Given the description of an element on the screen output the (x, y) to click on. 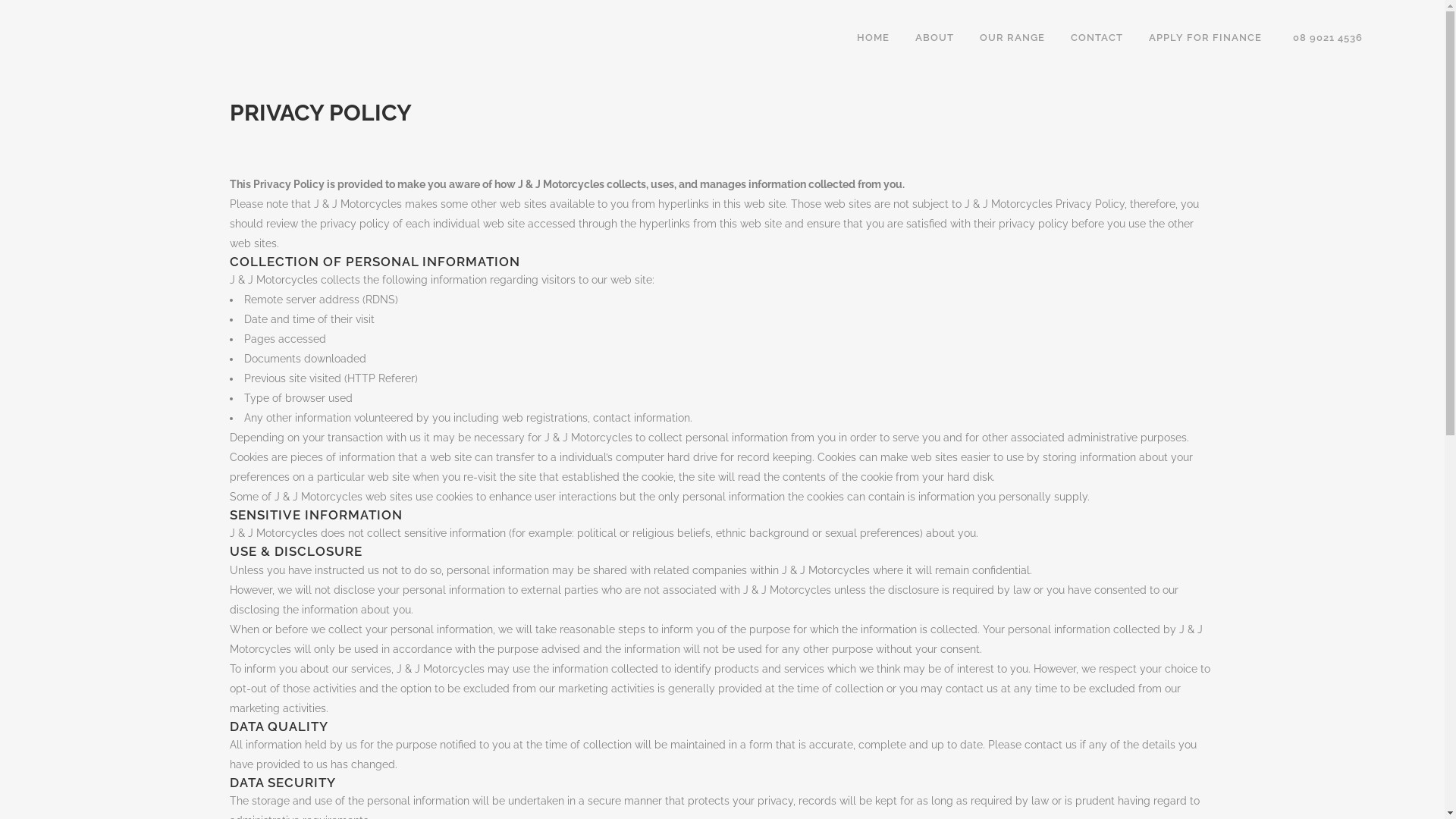
08 9021 4536 Element type: text (1324, 37)
CONTACT Element type: text (1096, 37)
OUR RANGE Element type: text (1011, 37)
HOME Element type: text (873, 37)
ABOUT Element type: text (934, 37)
APPLY FOR FINANCE Element type: text (1204, 37)
